Given the description of an element on the screen output the (x, y) to click on. 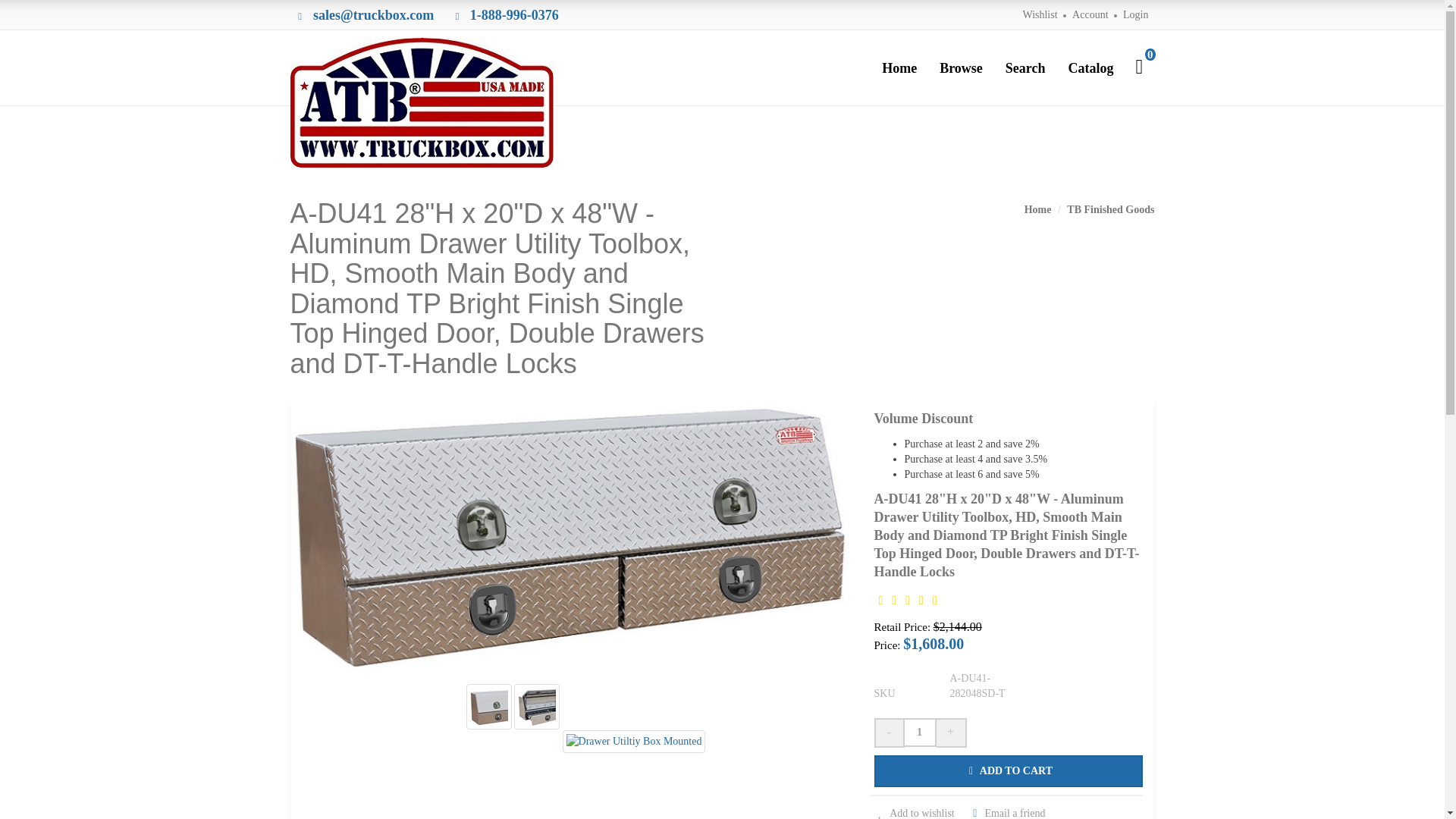
Browse (961, 67)
Home (899, 67)
ADD TO CART (1007, 771)
Add to wishlist (913, 813)
1-888-996-0 (504, 16)
Email a friend (1006, 813)
Wishlist (1039, 14)
Account (1089, 14)
Search (1025, 67)
Home (1038, 209)
Catalog (1091, 67)
Login (1135, 14)
1 (919, 732)
TB Finished Goods (1110, 209)
